Given the description of an element on the screen output the (x, y) to click on. 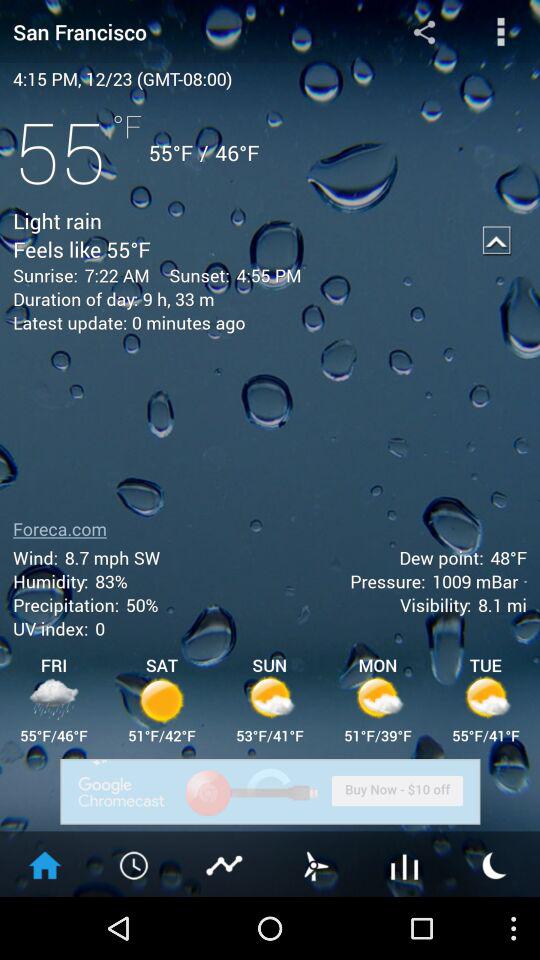
share weather (424, 31)
